Given the description of an element on the screen output the (x, y) to click on. 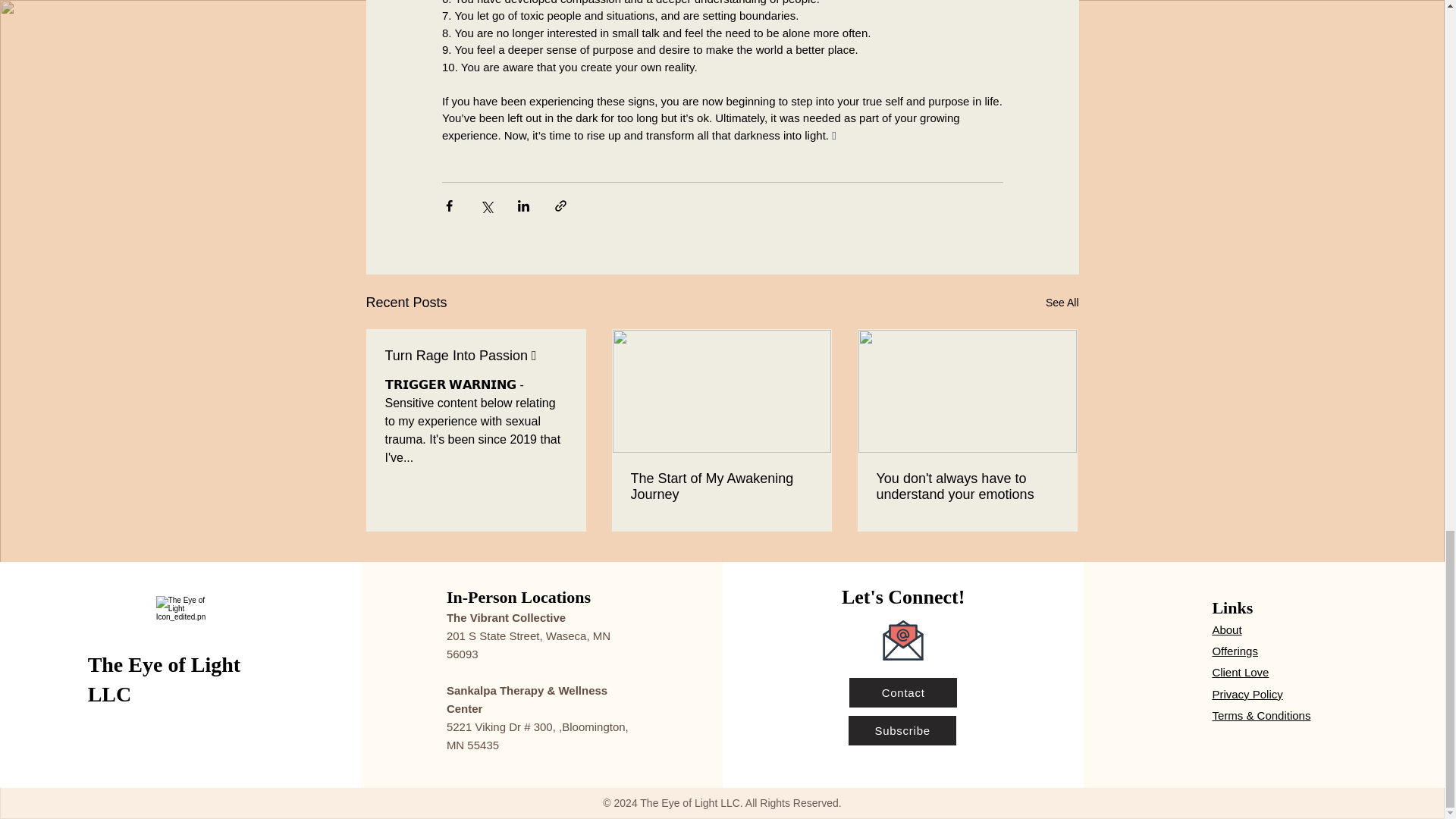
Client Love (1239, 671)
Contact (902, 692)
The Start of My Awakening Journey (721, 486)
About (1226, 629)
See All (1061, 302)
Privacy Policy (1246, 694)
You don't always have to understand your emotions (967, 486)
Subscribe (902, 730)
Offerings (1234, 650)
